Given the description of an element on the screen output the (x, y) to click on. 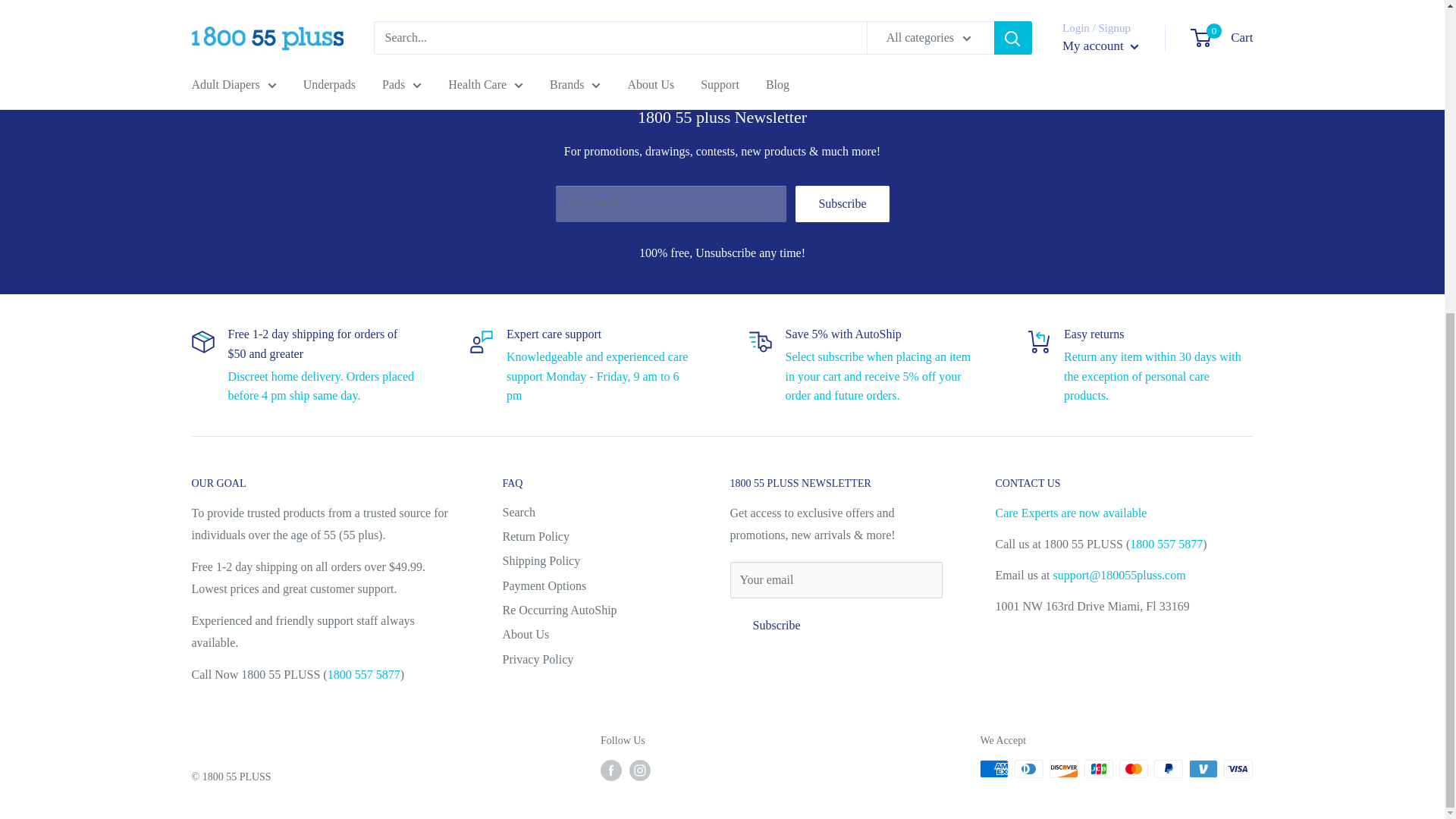
Support (596, 376)
ReOrderSubscription (878, 376)
tel:1800 557 5877 (1165, 543)
Support (1070, 512)
Shipping Policy (320, 386)
RETURN POLICY (1152, 376)
tel:1800 557 5877 (363, 674)
